Given the description of an element on the screen output the (x, y) to click on. 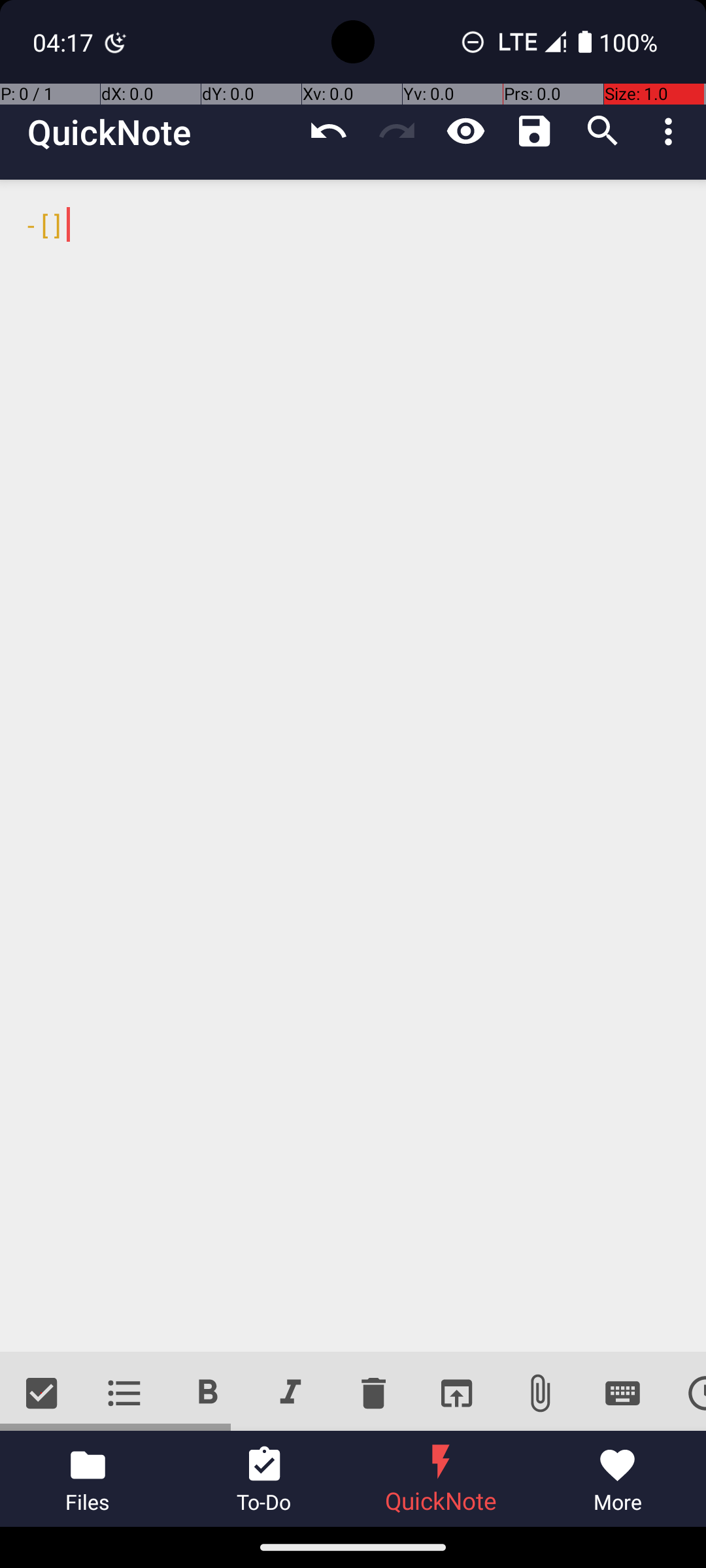
04:17 Element type: android.widget.TextView (64, 41)
Digital Wellbeing notification: Bedtime mode is on Element type: android.widget.ImageView (115, 41)
